Given the description of an element on the screen output the (x, y) to click on. 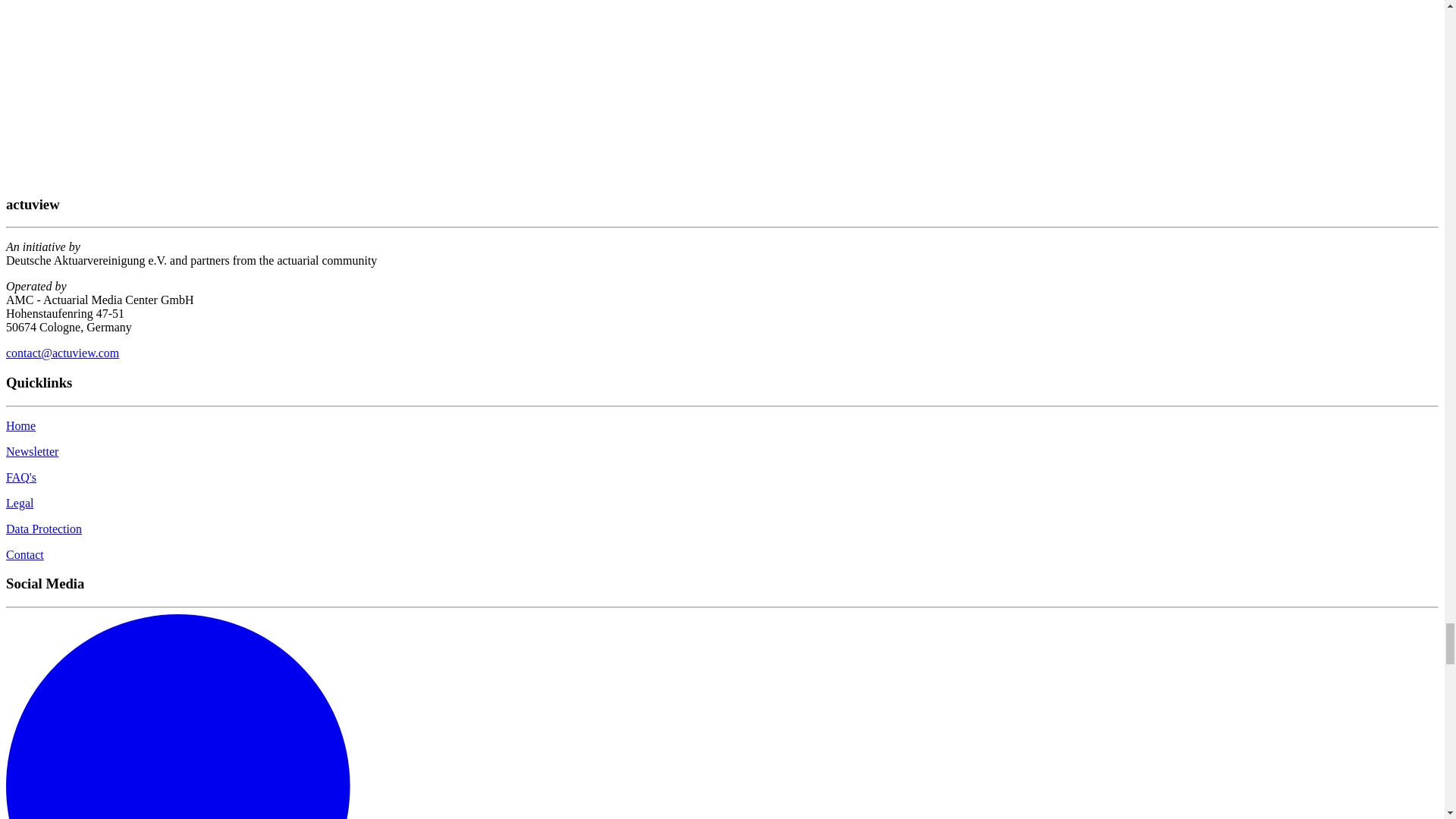
Newsletter (31, 451)
Contact (24, 554)
FAQ's (20, 477)
Home (19, 425)
Data Protection (43, 528)
Legal (19, 502)
